Given the description of an element on the screen output the (x, y) to click on. 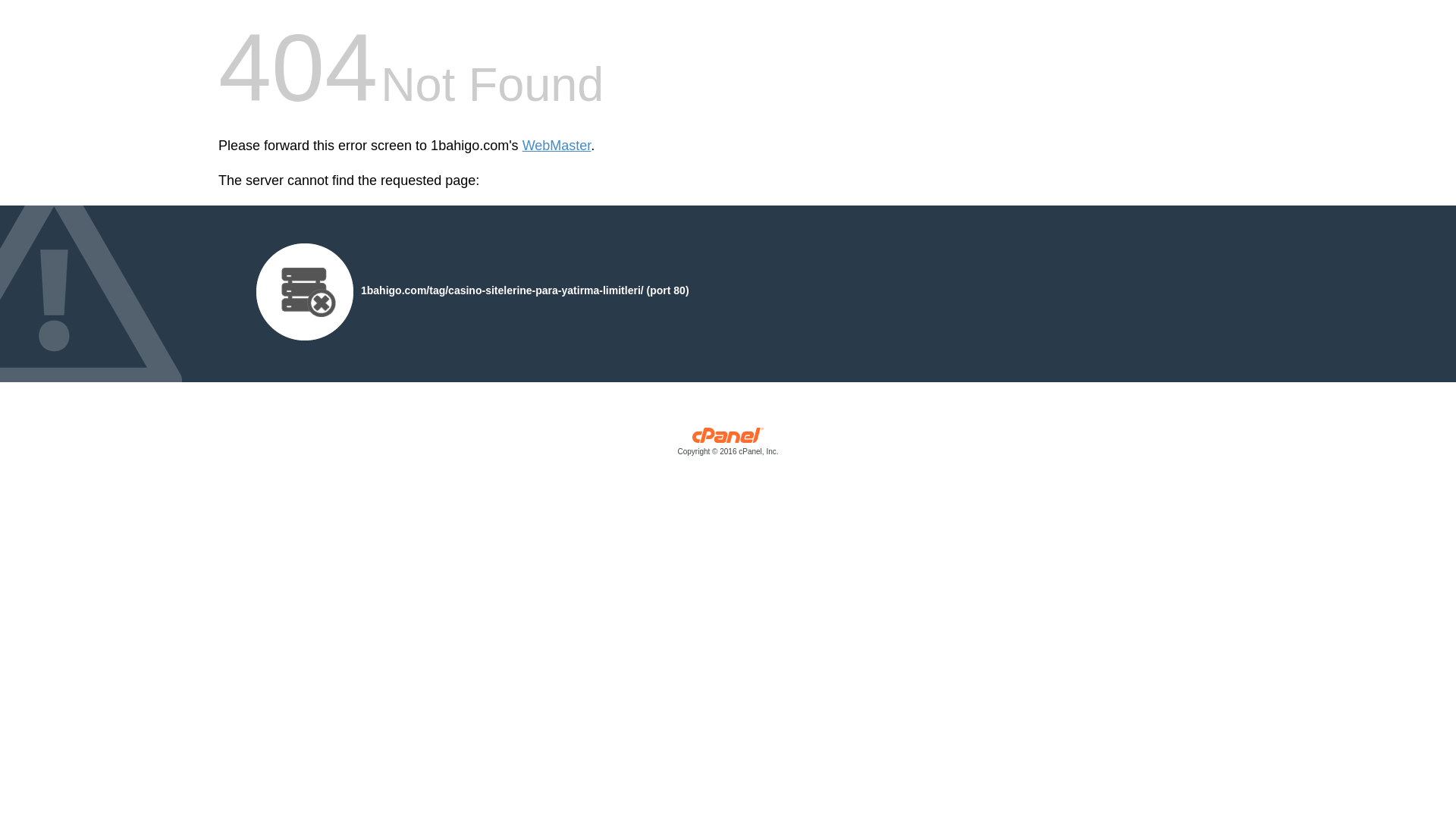
WebMaster Element type: text (556, 145)
